Given the description of an element on the screen output the (x, y) to click on. 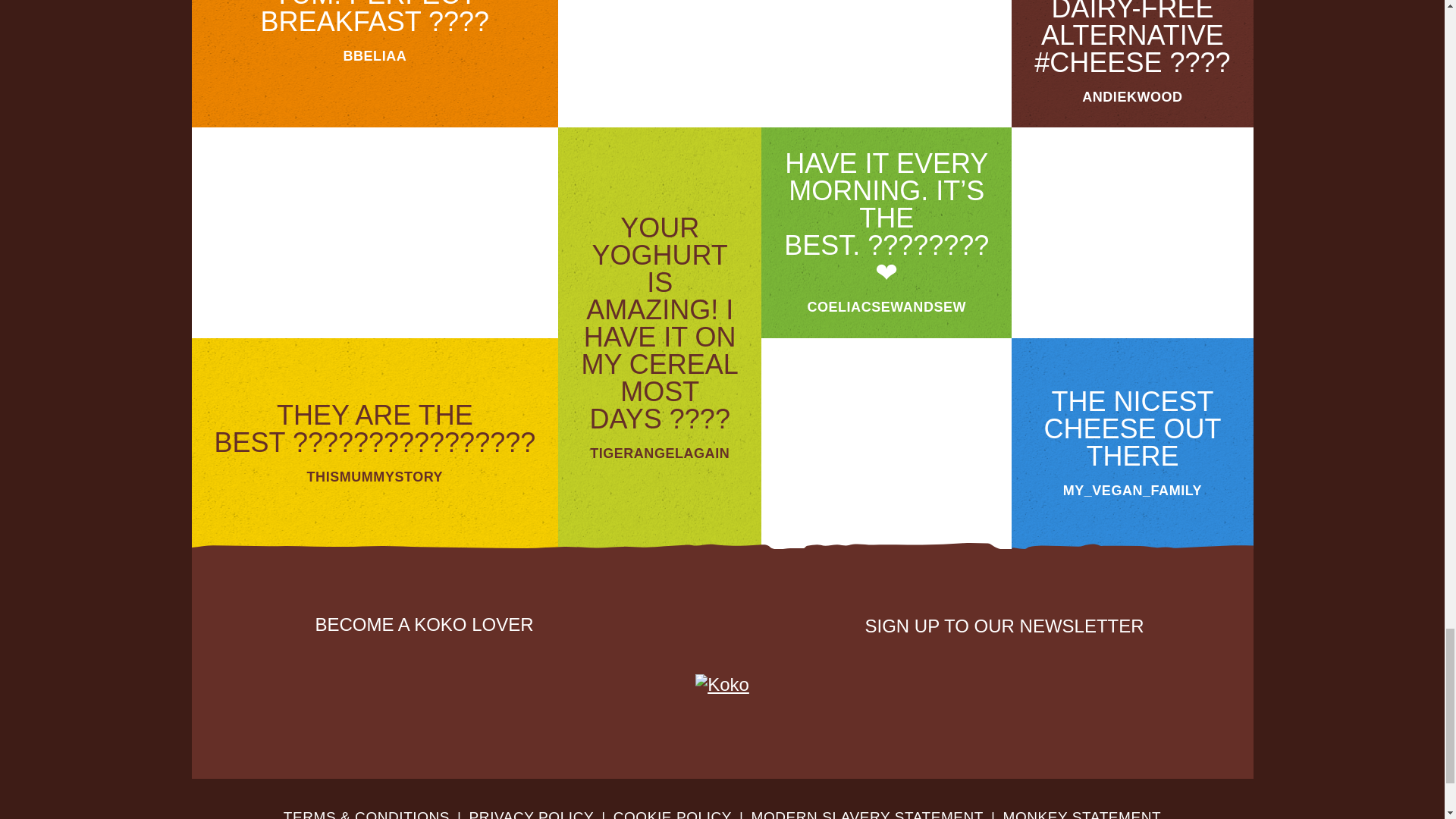
PRIVACY POLICY (531, 814)
SUBMIT (1119, 673)
MONKEY STATEMENT (1082, 814)
MODERN SLAVERY STATEMENT (867, 814)
COOKIE POLICY (672, 814)
